Given the description of an element on the screen output the (x, y) to click on. 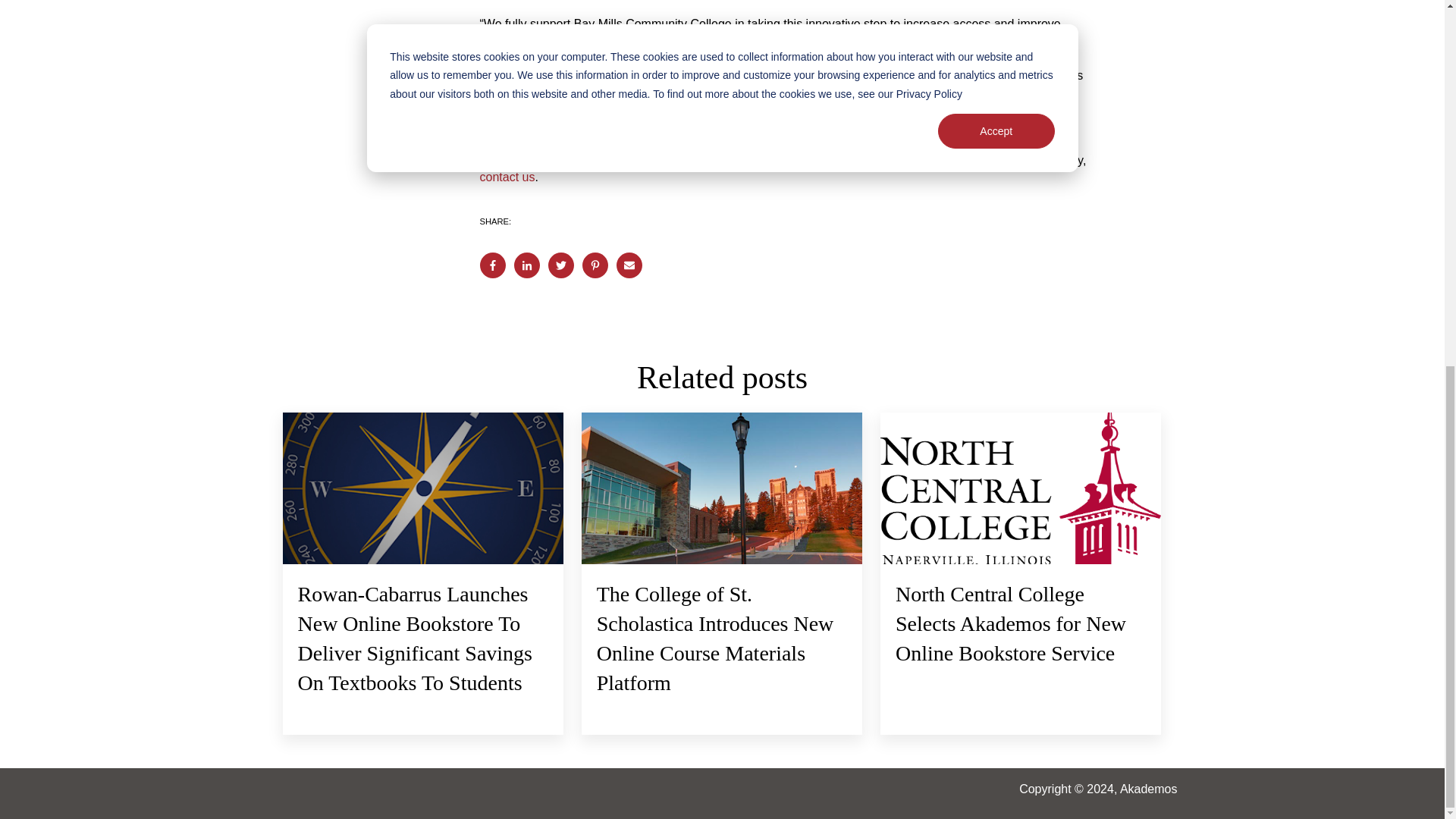
here. (640, 125)
contact us (506, 176)
